Given the description of an element on the screen output the (x, y) to click on. 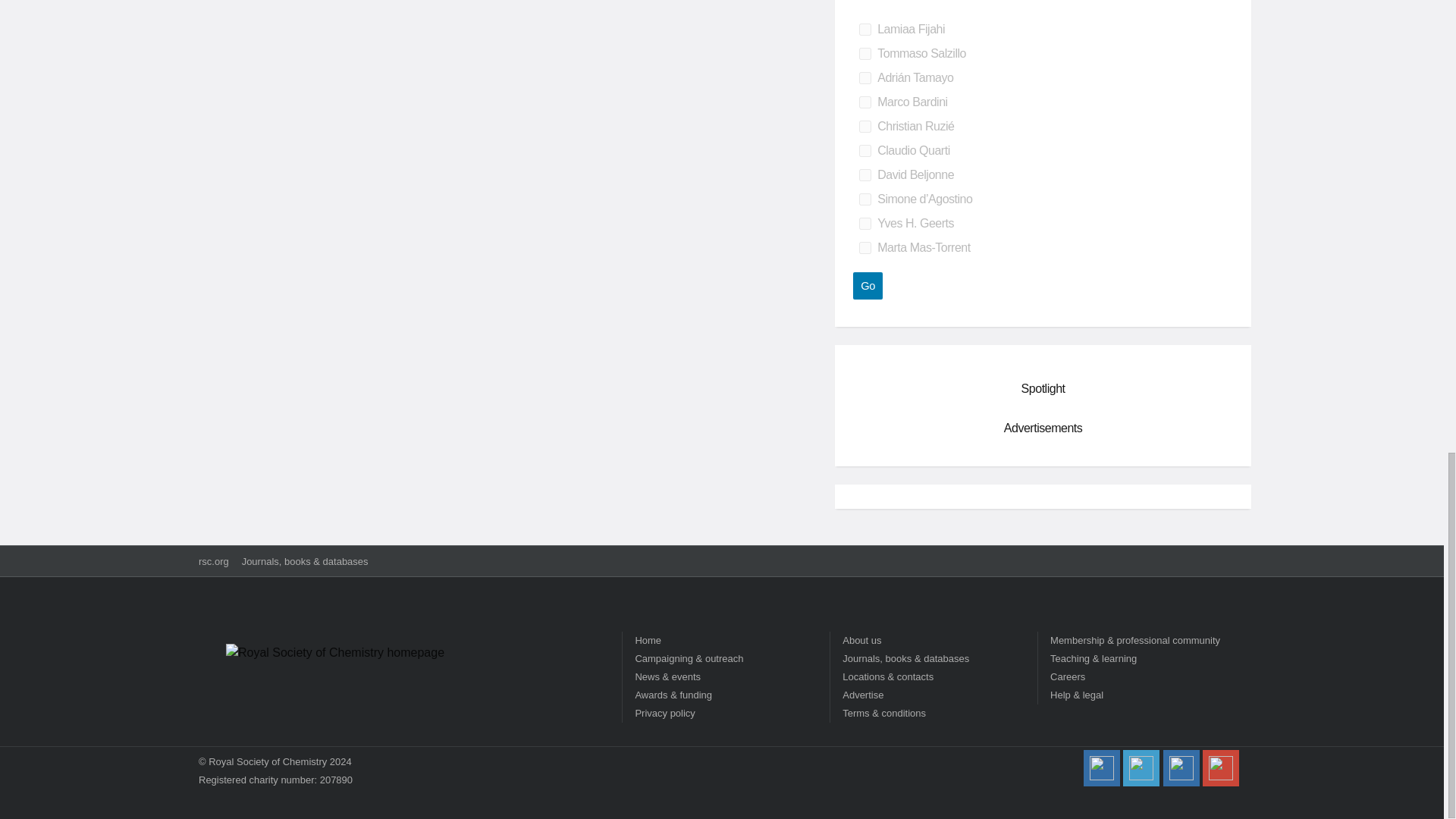
on (864, 247)
on (864, 223)
on (864, 150)
on (864, 102)
on (864, 199)
on (864, 126)
on (864, 174)
on (864, 78)
on (864, 29)
on (864, 53)
Go (867, 285)
Go (867, 285)
